Given the description of an element on the screen output the (x, y) to click on. 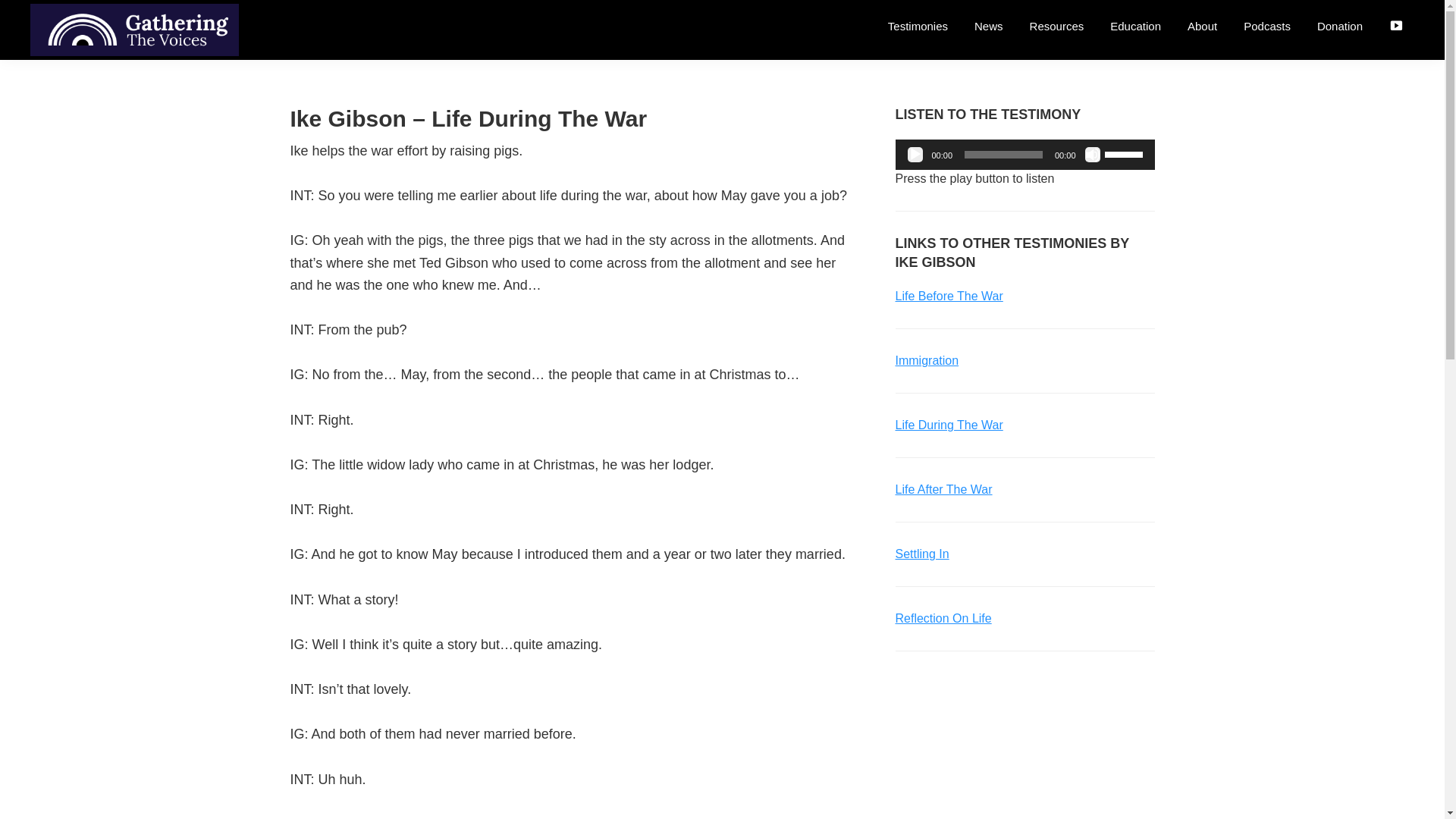
Resources (1056, 25)
Podcasts (1266, 25)
Life During The War (949, 424)
Education (1135, 25)
Donation (1340, 25)
Testimonies (917, 25)
Mute (1091, 154)
Life After The War (943, 489)
News (988, 25)
Immigration (926, 359)
About (1202, 25)
Play (914, 154)
Life Before The War (949, 295)
Youtube (1395, 26)
